Given the description of an element on the screen output the (x, y) to click on. 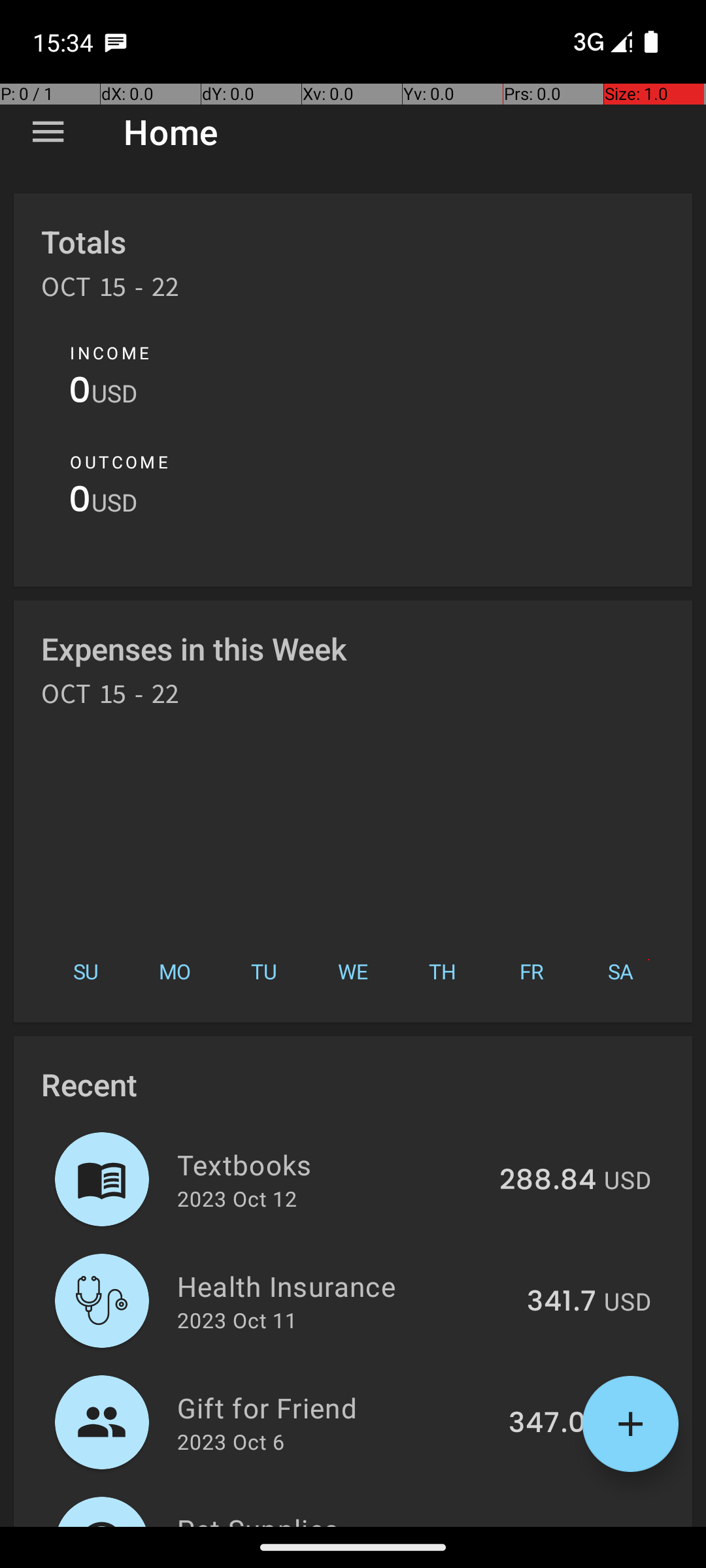
Textbooks Element type: android.widget.TextView (330, 1164)
288.84 Element type: android.widget.TextView (547, 1180)
Health Insurance Element type: android.widget.TextView (344, 1285)
2023 Oct 11 Element type: android.widget.TextView (236, 1320)
341.7 Element type: android.widget.TextView (561, 1301)
Gift for Friend Element type: android.widget.TextView (335, 1407)
2023 Oct 6 Element type: android.widget.TextView (230, 1441)
347.01 Element type: android.widget.TextView (551, 1423)
Pet Supplies Element type: android.widget.TextView (331, 1518)
293.83 Element type: android.widget.TextView (548, 1524)
